Given the description of an element on the screen output the (x, y) to click on. 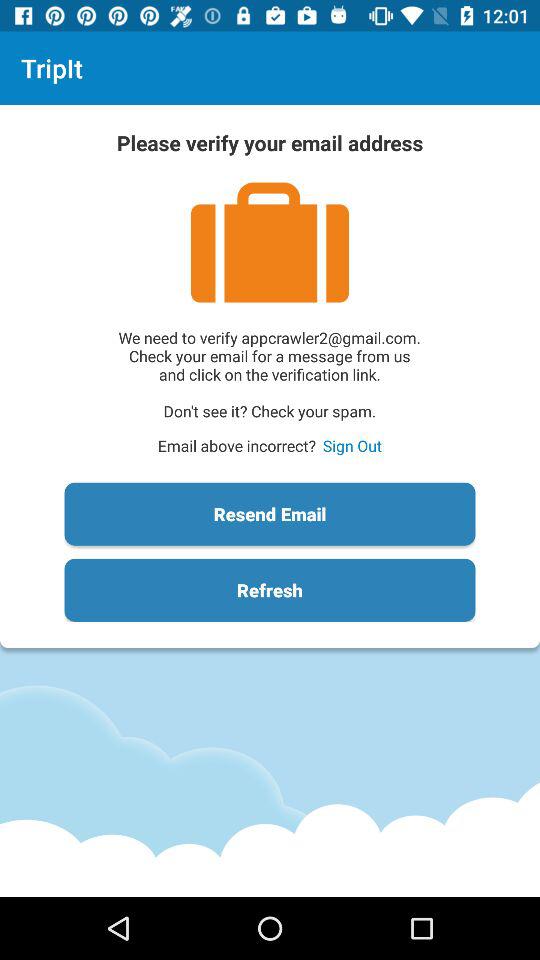
turn on resend email (269, 513)
